Given the description of an element on the screen output the (x, y) to click on. 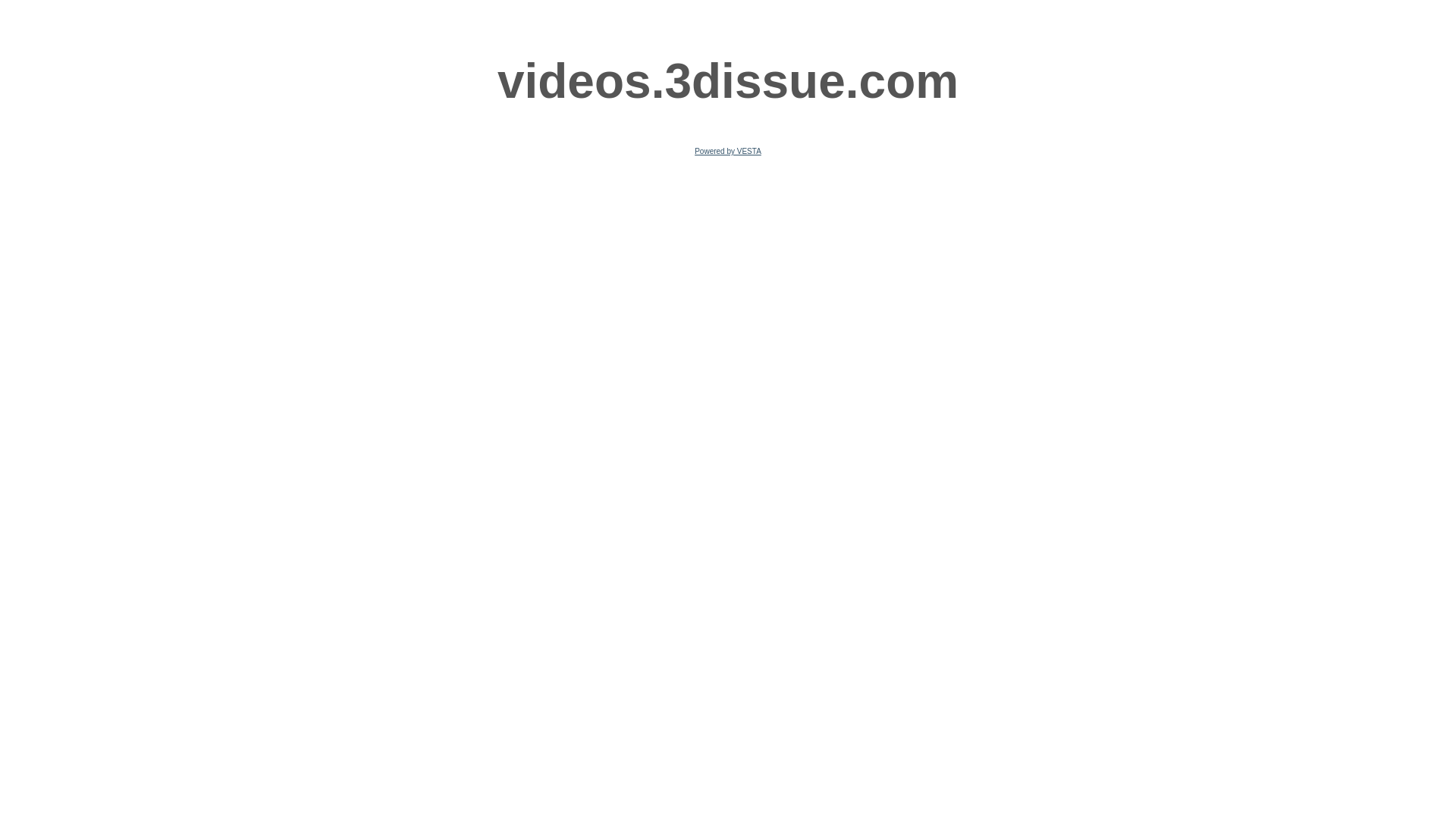
Powered by VESTA Element type: text (727, 151)
